Given the description of an element on the screen output the (x, y) to click on. 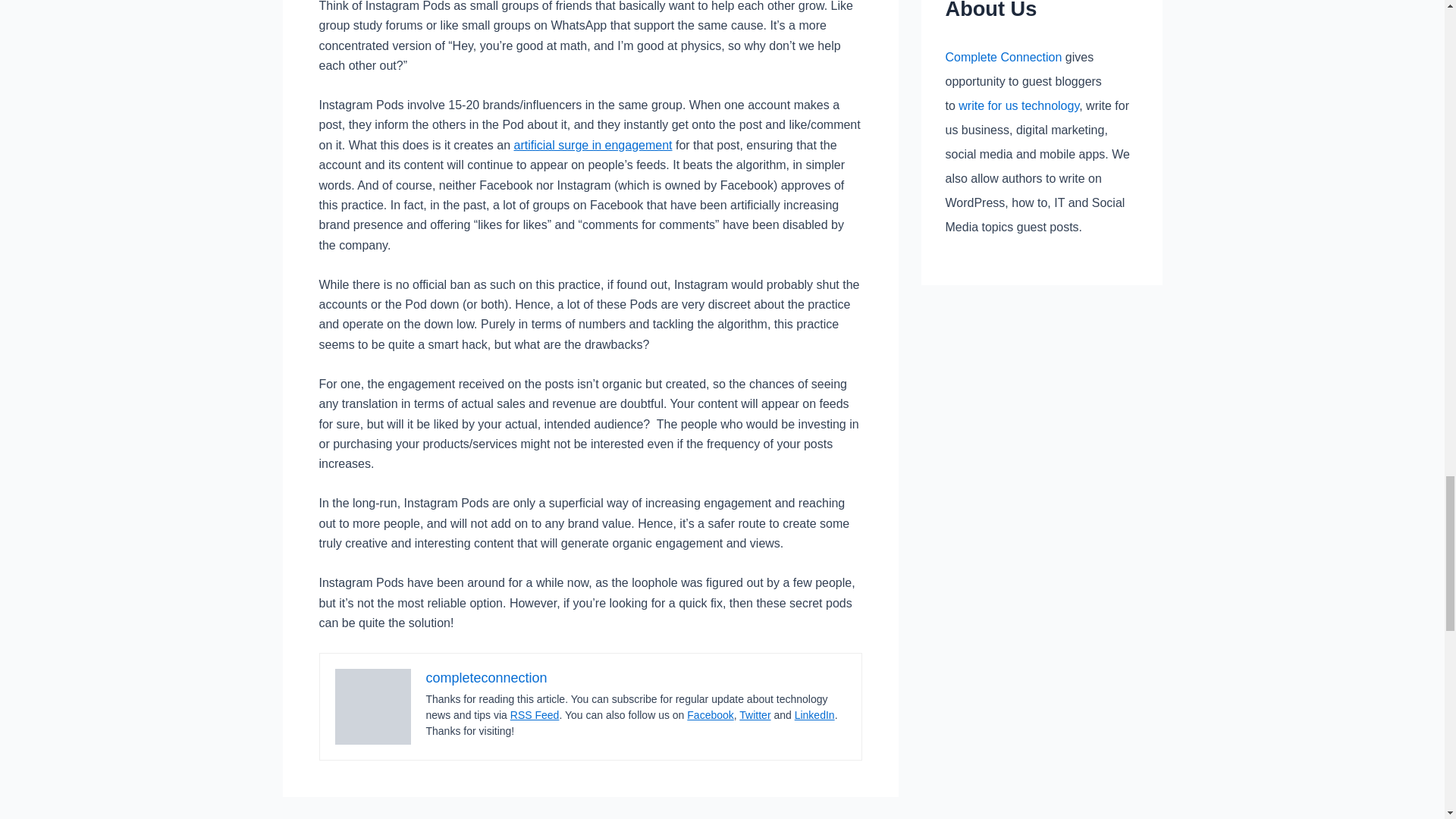
artificial surge in engagement (592, 144)
Twitter (754, 715)
Facebook (710, 715)
LinkedIn (814, 715)
completeconnection (486, 677)
RSS Feed (535, 715)
